Given the description of an element on the screen output the (x, y) to click on. 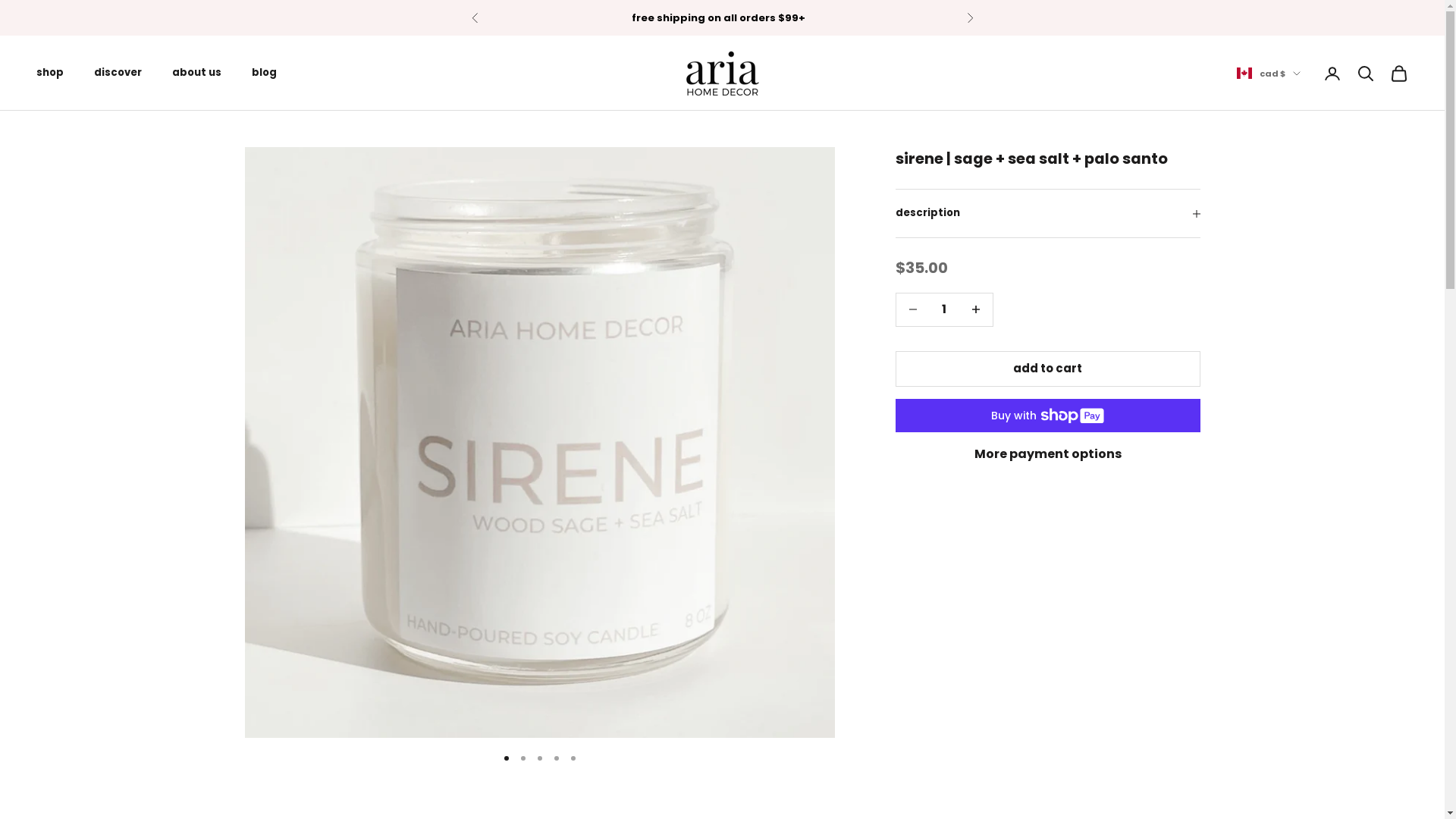
Go to item 2 Element type: text (522, 758)
Decrease quantity Element type: text (975, 309)
Go to item 4 Element type: text (556, 758)
Next Element type: text (968, 17)
Go to item 3 Element type: text (539, 758)
Open search Element type: text (1365, 73)
blog Element type: text (263, 72)
Decrease quantity Element type: text (912, 309)
Candle Care & Safety Guide Element type: hover (985, 489)
Go to item 1 Element type: text (506, 758)
Go to item 5 Element type: text (573, 758)
cad $ Element type: text (1268, 73)
More payment options Element type: text (1047, 454)
new! tealight discovery set Element type: text (719, 17)
add to cart Element type: text (1047, 369)
Open account page Element type: text (1332, 73)
Open cart Element type: text (1399, 73)
Previous Element type: text (474, 17)
Aria Home Decor Element type: text (721, 73)
